Given the description of an element on the screen output the (x, y) to click on. 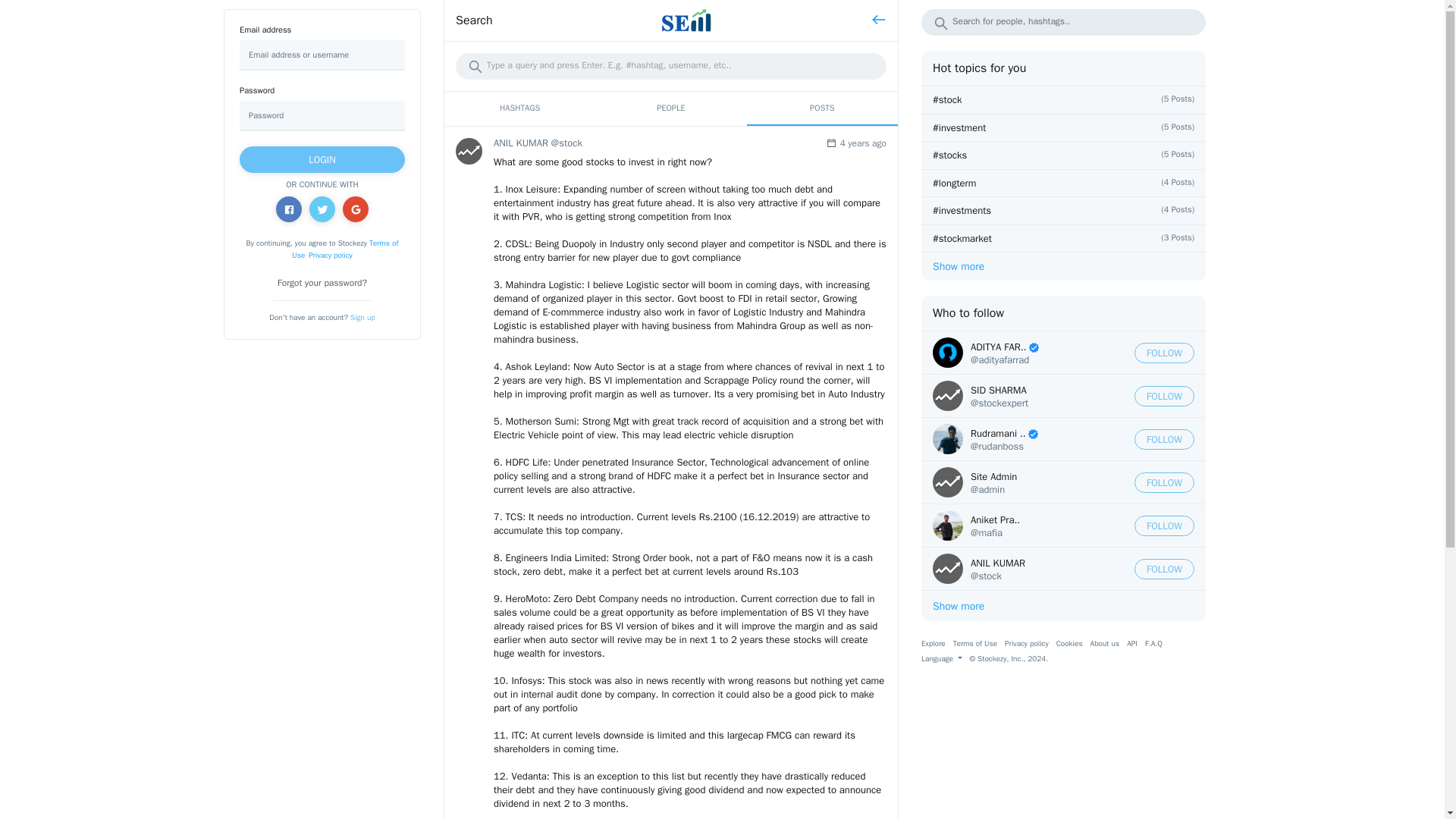
Search (474, 20)
HASHTAGS (519, 108)
POSTS (822, 108)
PEOPLE (670, 107)
Forgot your password? (322, 282)
Terms of Use (344, 249)
LOGIN (322, 159)
PEOPLE (670, 108)
HASHTAGS (519, 107)
Sign up (362, 317)
Privacy policy (330, 255)
